Given the description of an element on the screen output the (x, y) to click on. 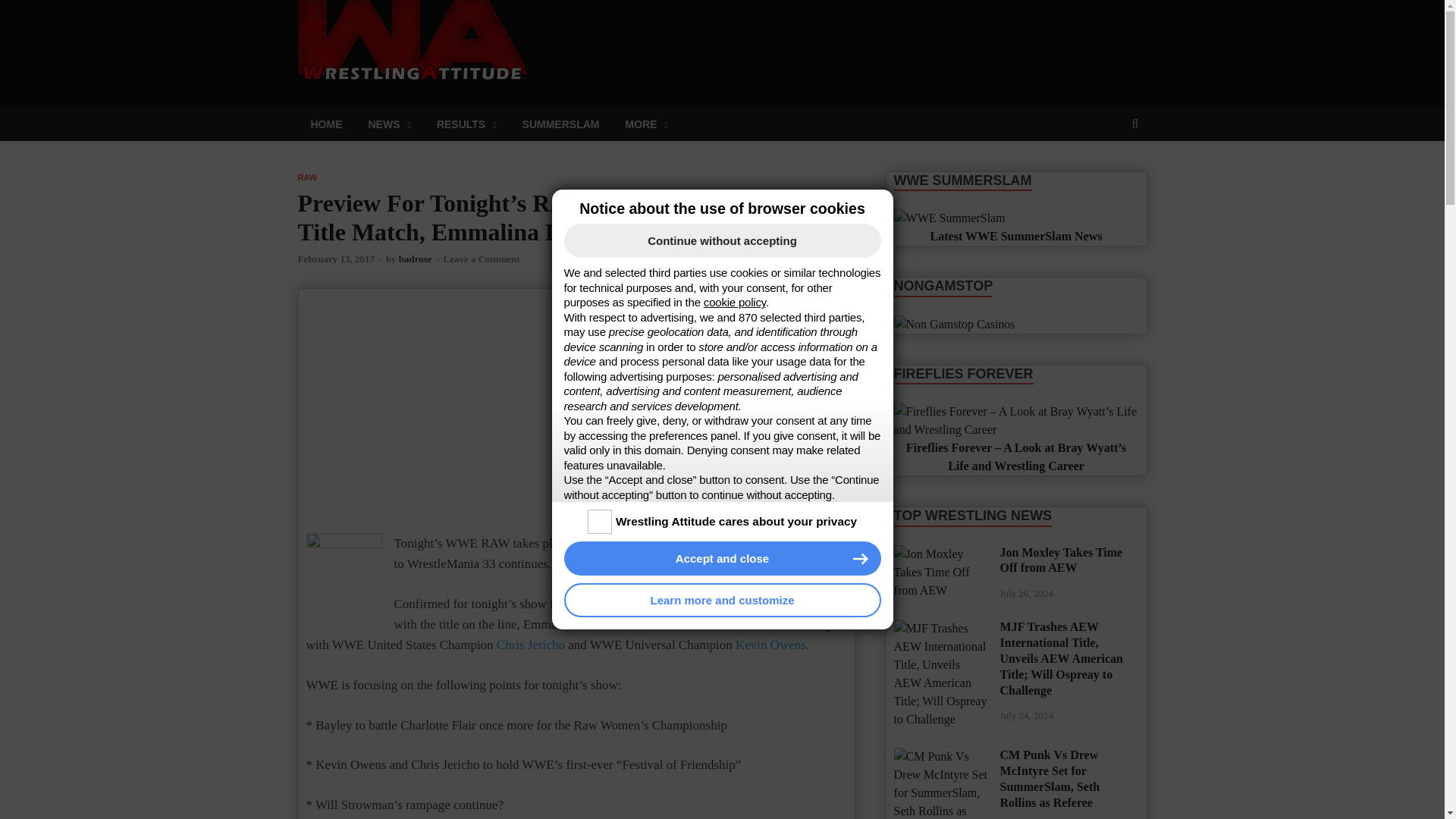
Chris Jericho (530, 644)
Bayley (580, 603)
HOME (326, 123)
MORE (645, 123)
Charlotte Flair (797, 603)
NEWS (389, 123)
WWE SummerSlam (949, 218)
SUMMERSLAM (560, 123)
Kevin Owens (770, 644)
Wrestling Attitude (645, 27)
RESULTS (466, 123)
